Given the description of an element on the screen output the (x, y) to click on. 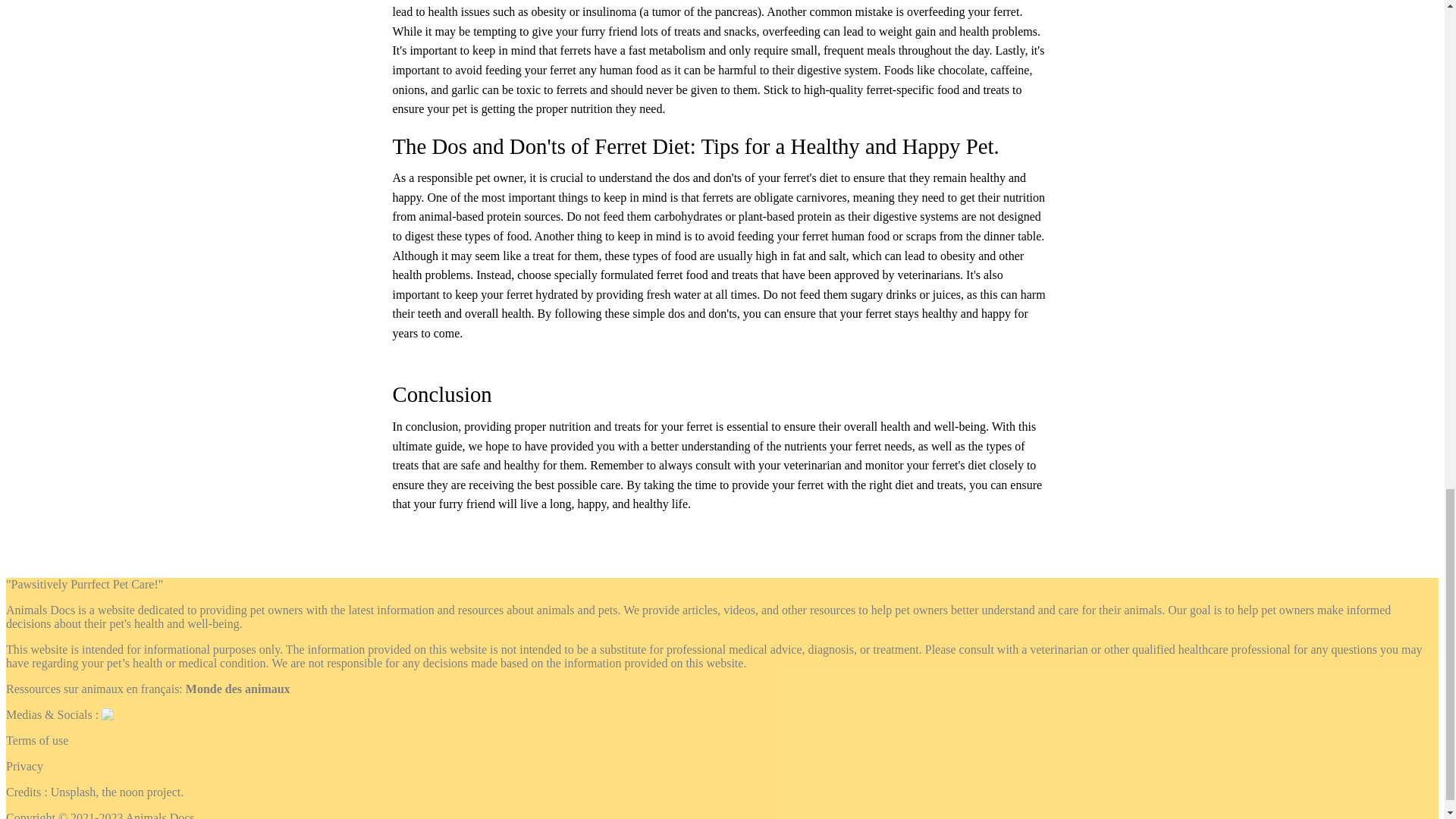
Unsplash (73, 791)
Privacy (24, 766)
Terms of use (36, 739)
the noon project (140, 791)
Monde des animaux (237, 688)
